Given the description of an element on the screen output the (x, y) to click on. 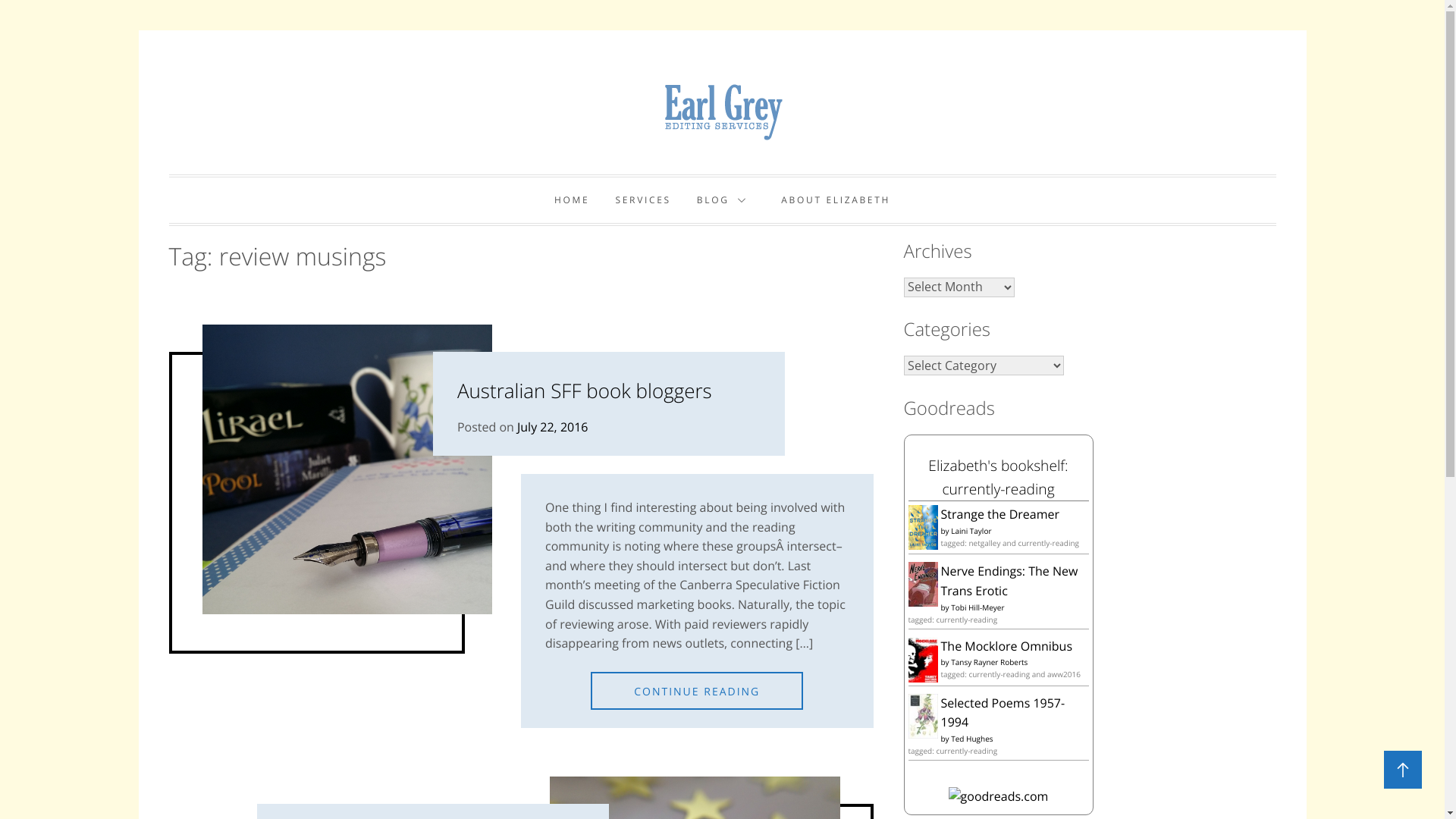
Laini Taylor Element type: text (970, 530)
ABOUT ELIZABETH Element type: text (835, 199)
Elizabeth's bookshelf: currently-reading Element type: text (997, 476)
Selected Poems 1957-1994 Element type: text (1002, 712)
July 22, 2016 Element type: text (552, 426)
The Mocklore Omnibus Element type: text (1006, 645)
HOME Element type: text (571, 199)
Nerve Endings: The New Trans Erotic Element type: hover (923, 601)
Ted Hughes Element type: text (971, 738)
Tobi Hill-Meyer Element type: text (977, 607)
Strange the Dreamer (Strange the Dreamer, #1) Element type: hover (923, 544)
Australian SFF book bloggers Element type: text (584, 390)
BLOG Element type: text (725, 199)
CONTINUE READING Element type: text (696, 690)
Tansy Rayner Roberts Element type: text (988, 661)
Strange the Dreamer Element type: text (999, 513)
SERVICES Element type: text (643, 199)
Earl Grey Editing Element type: text (397, 143)
Selected Poems 1957-1994 Element type: hover (923, 733)
The Mocklore Omnibus (Mocklore Chronicles, #1 & #2) Element type: hover (923, 679)
Nerve Endings: The New Trans Erotic Element type: text (1008, 580)
Skip to content Element type: text (138, 30)
